Given the description of an element on the screen output the (x, y) to click on. 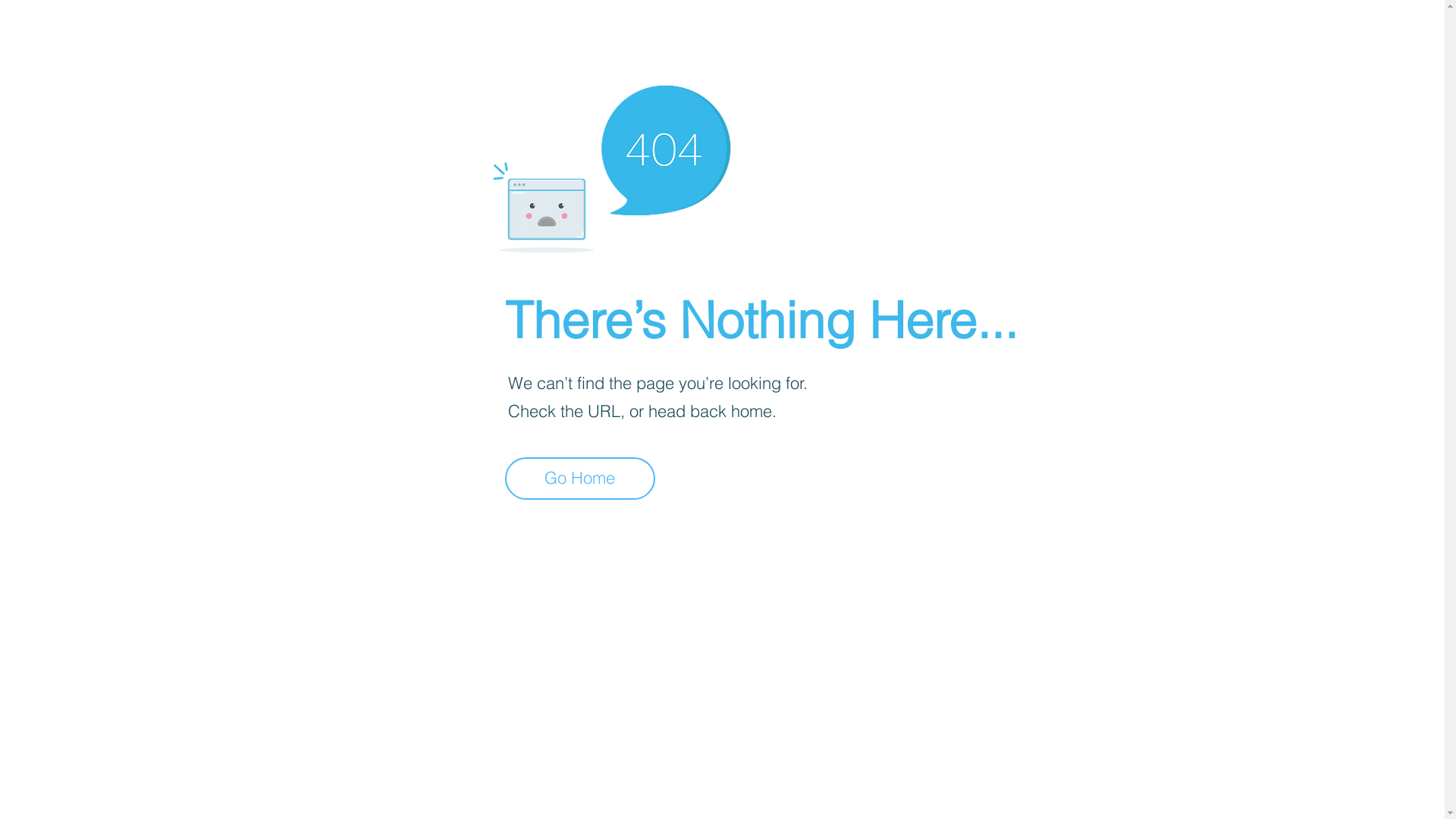
404-icon_2.png Element type: hover (610, 164)
Go Home Element type: text (580, 478)
